Given the description of an element on the screen output the (x, y) to click on. 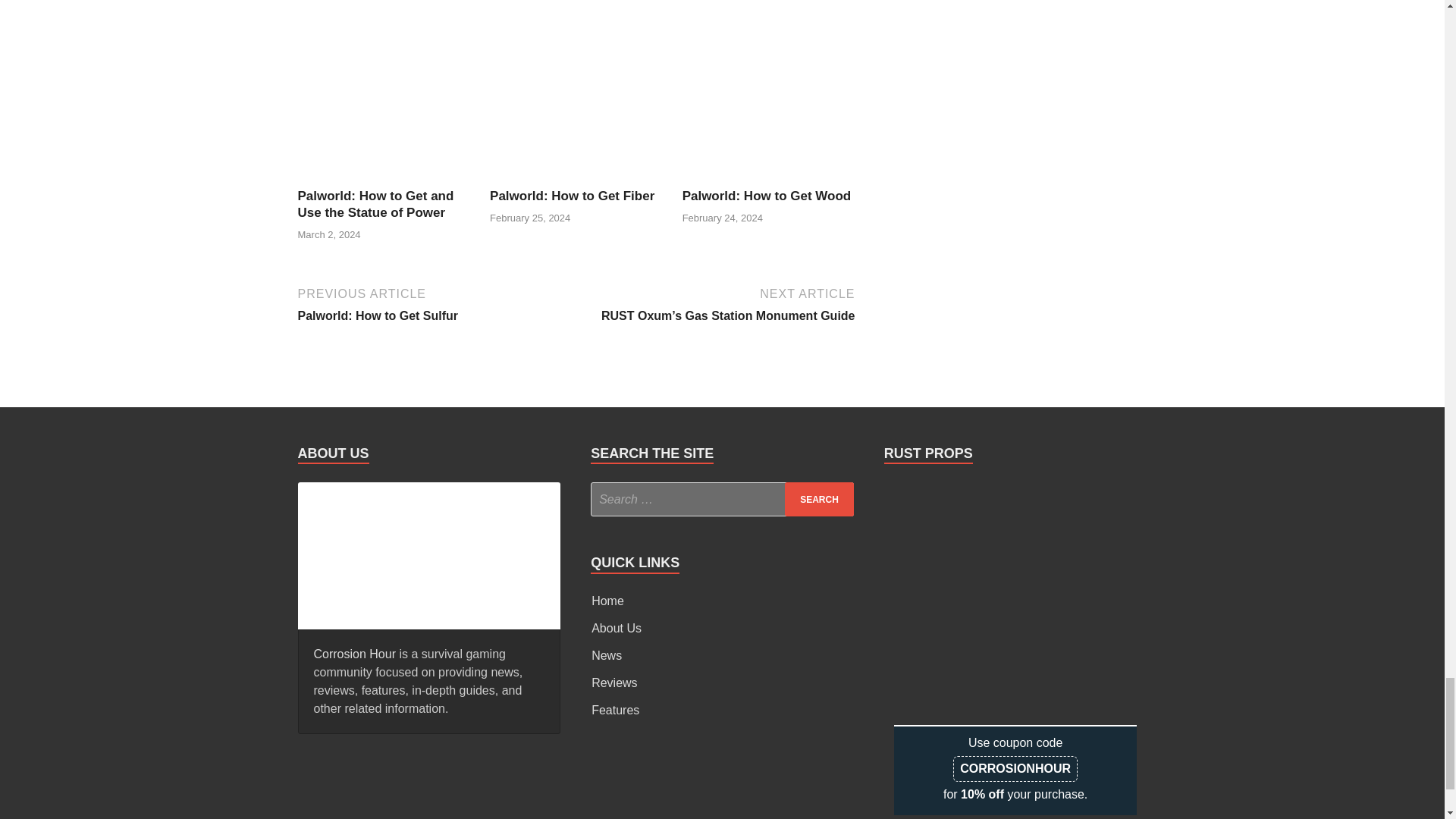
Palworld: How to Get and Use the Statue of Power (383, 178)
Palworld: How to Get Fiber (571, 196)
CorrosionHour (428, 553)
Palworld: How to Get Fiber (575, 178)
Search (818, 499)
Palworld: How to Get and Use the Statue of Power (374, 204)
Palworld: How to Get Wood (769, 178)
Palworld: How to Get Wood (766, 196)
Search (818, 499)
